Given the description of an element on the screen output the (x, y) to click on. 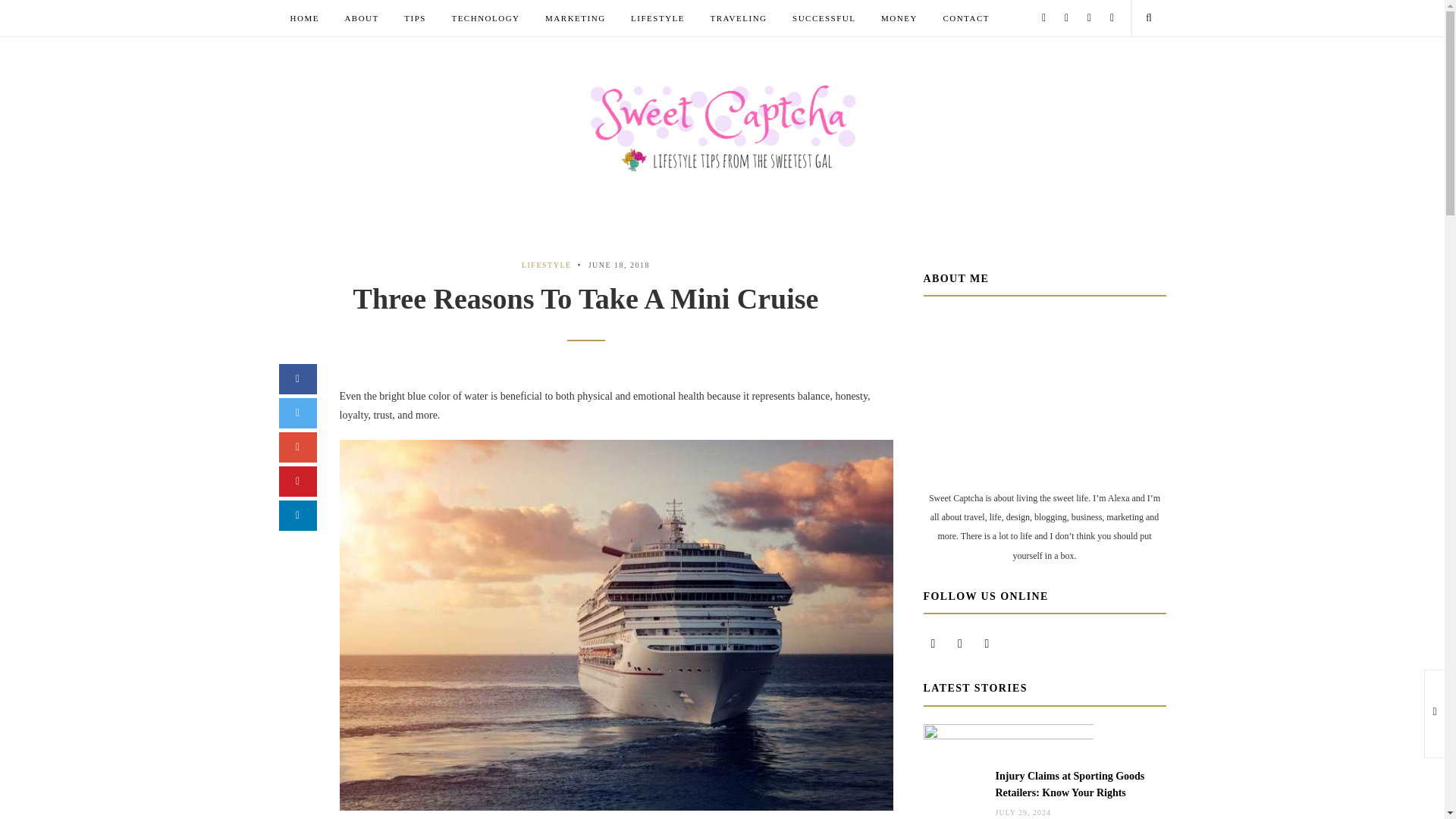
SUCCESSFUL (823, 18)
LIFESTYLE (658, 18)
MARKETING (574, 18)
TRAVELING (738, 18)
HOME (304, 18)
CONTACT (965, 18)
LIFESTYLE (546, 265)
TECHNOLOGY (485, 18)
Sweet Captcha (722, 126)
ABOUT (360, 18)
TIPS (414, 18)
JUNE 18, 2018 (618, 265)
MONEY (898, 18)
